Given the description of an element on the screen output the (x, y) to click on. 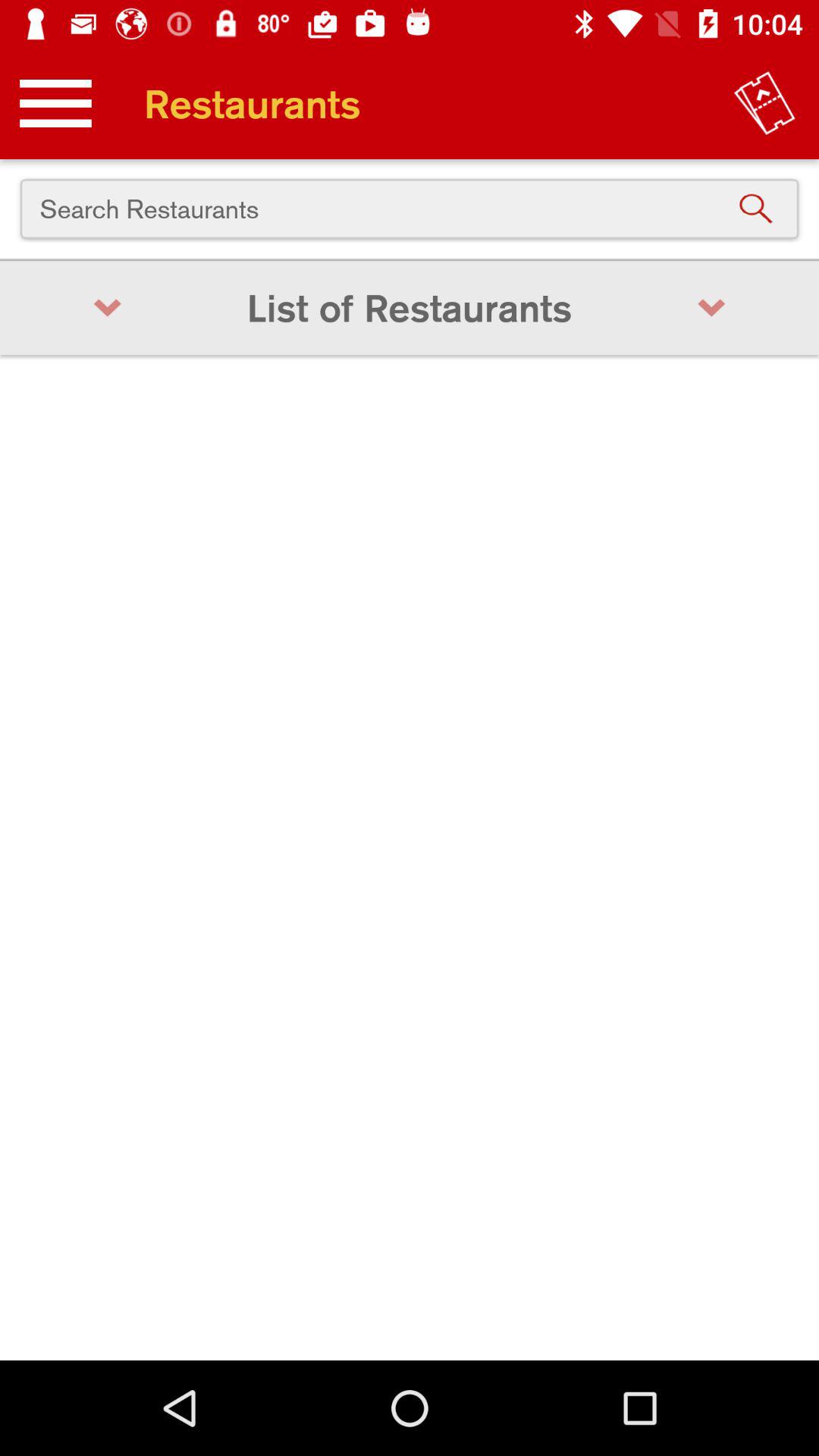
turn on item to the right of restaurants item (764, 103)
